Given the description of an element on the screen output the (x, y) to click on. 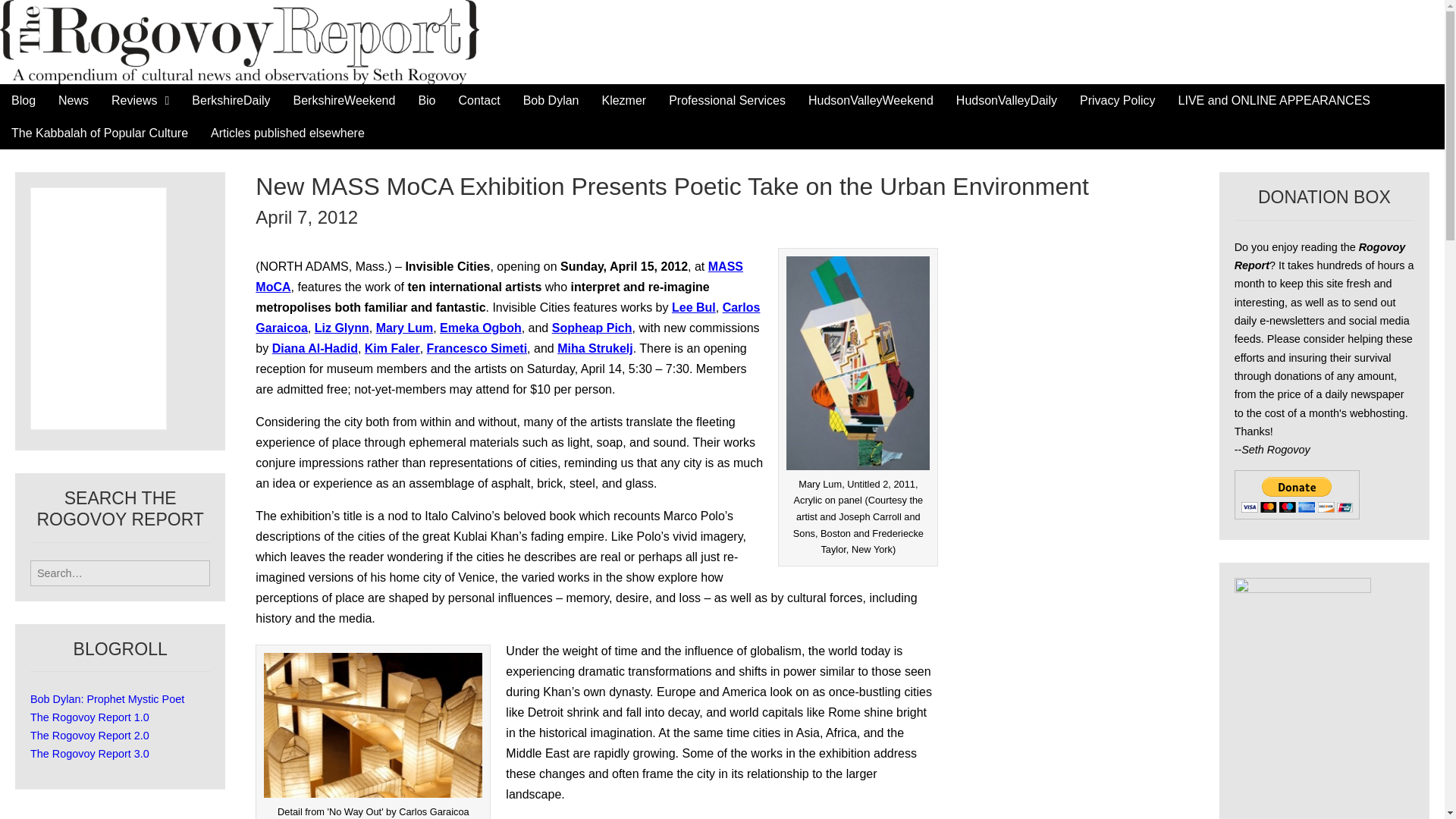
Professional Services (727, 100)
Bob Dylan: Prophet Mystic Poet (107, 698)
HudsonValleyDaily (1006, 100)
News (73, 100)
Contact (479, 100)
The Rogovoy Report (182, 40)
The Rogovoy Report (182, 40)
BerkshireWeekend (344, 100)
Bob Dylan (551, 100)
Diana Al-Hadid (315, 348)
Bio (426, 100)
Liz Glynn (341, 327)
Emeka Ogboh (480, 327)
The Rogovoy Report 1.0 (89, 717)
Sopheap Pich (591, 327)
